Given the description of an element on the screen output the (x, y) to click on. 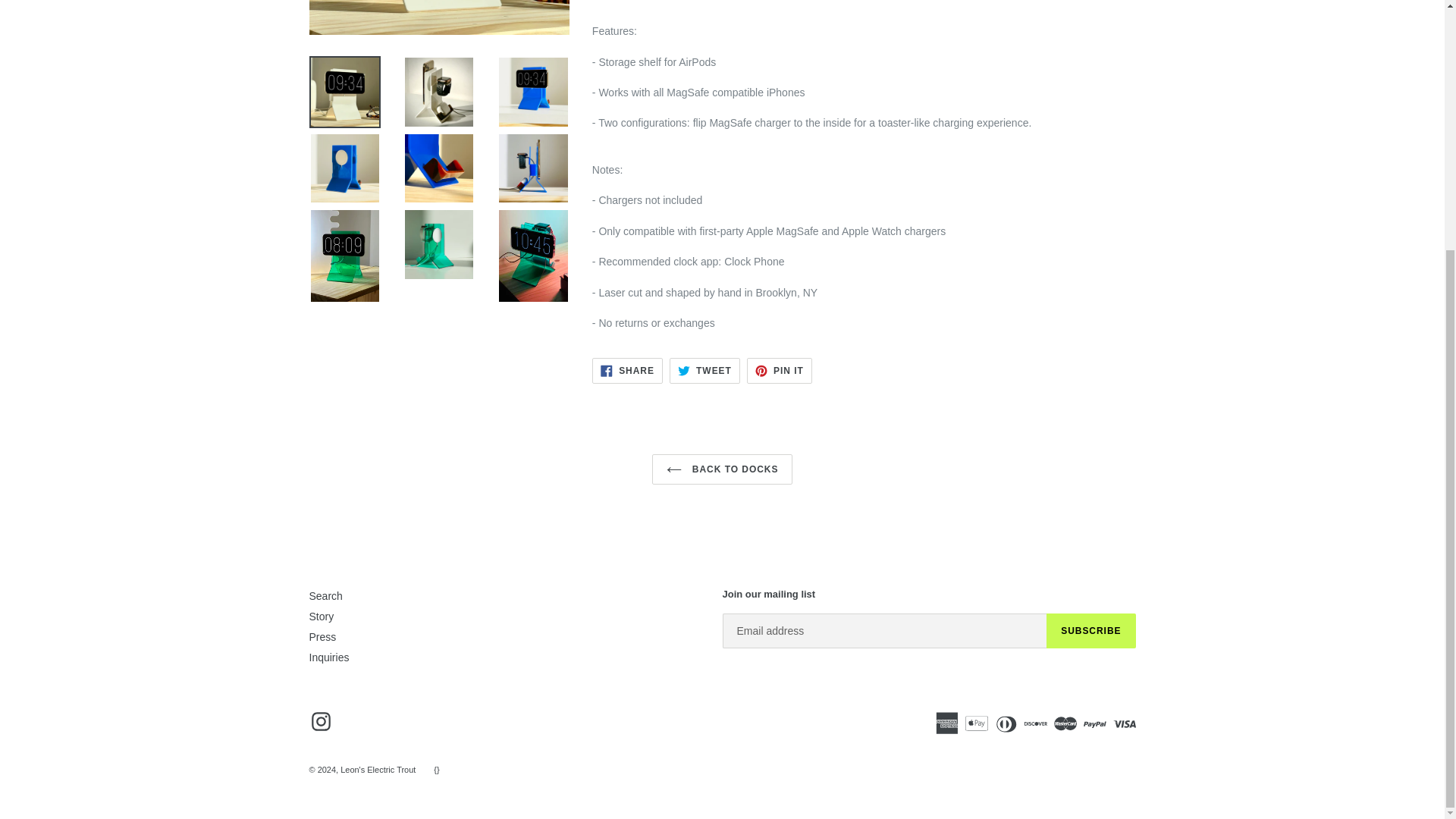
Tweet on Twitter (704, 370)
Press (322, 636)
Story (321, 616)
SUBSCRIBE (704, 370)
BACK TO DOCKS (1090, 630)
Pin on Pinterest (722, 468)
Share on Facebook (779, 370)
Leon's Electric Trout on Instagram (627, 370)
Instagram (779, 370)
Search (320, 721)
Inquiries (627, 370)
